Given the description of an element on the screen output the (x, y) to click on. 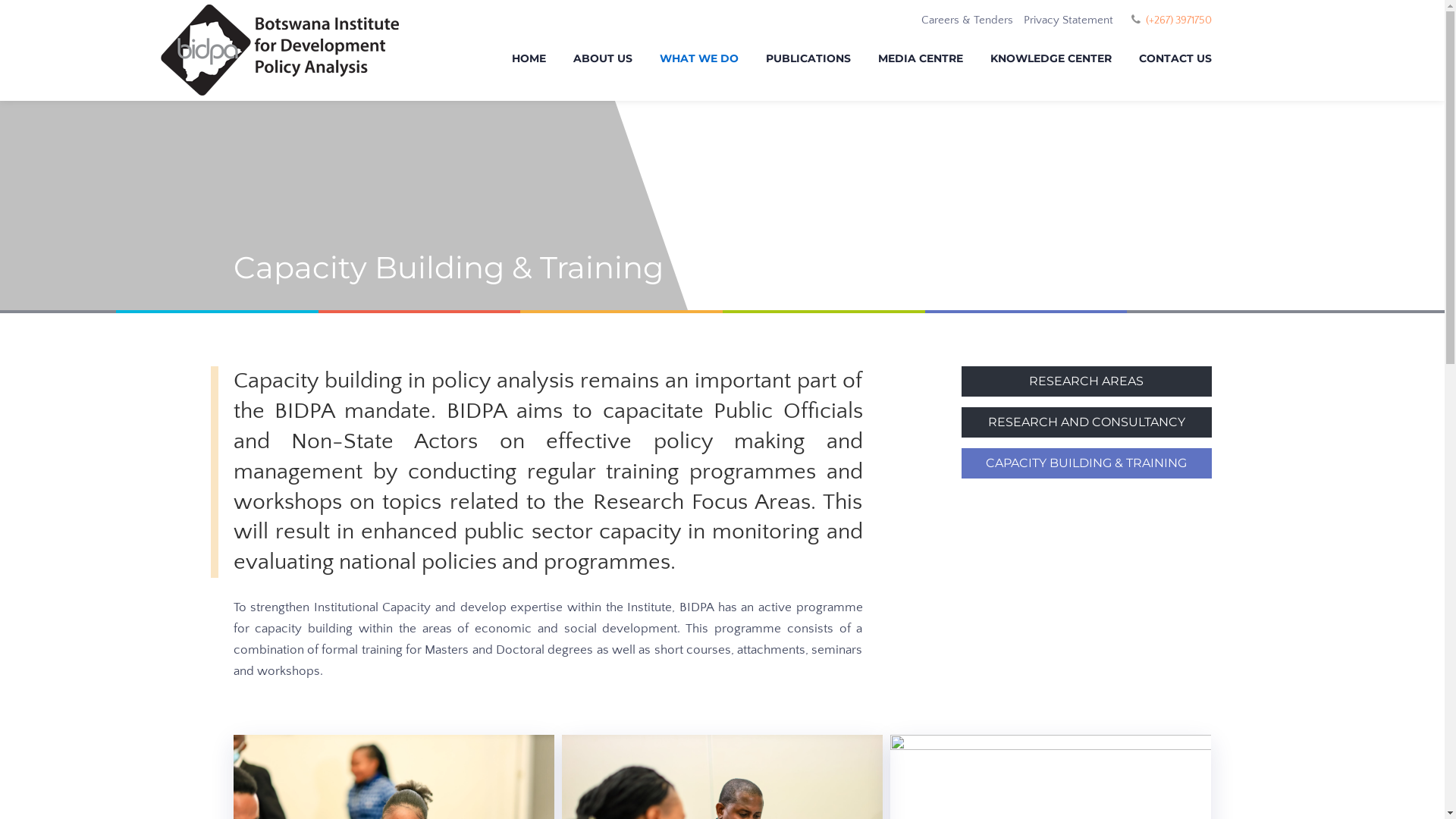
PUBLICATIONS Element type: text (808, 61)
WHAT WE DO Element type: text (699, 61)
ABOUT US Element type: text (602, 61)
HOME Element type: text (527, 61)
MEDIA CENTRE Element type: text (920, 61)
CAPACITY BUILDING & TRAINING Element type: text (1086, 463)
RESEARCH AND CONSULTANCY Element type: text (1086, 422)
RESEARCH AREAS Element type: text (1086, 381)
Privacy Statement Element type: text (1068, 19)
Careers & Tenders Element type: text (966, 19)
CONTACT US Element type: text (1168, 61)
KNOWLEDGE CENTER Element type: text (1050, 61)
(+267) 3971750 Element type: text (1178, 20)
